Given the description of an element on the screen output the (x, y) to click on. 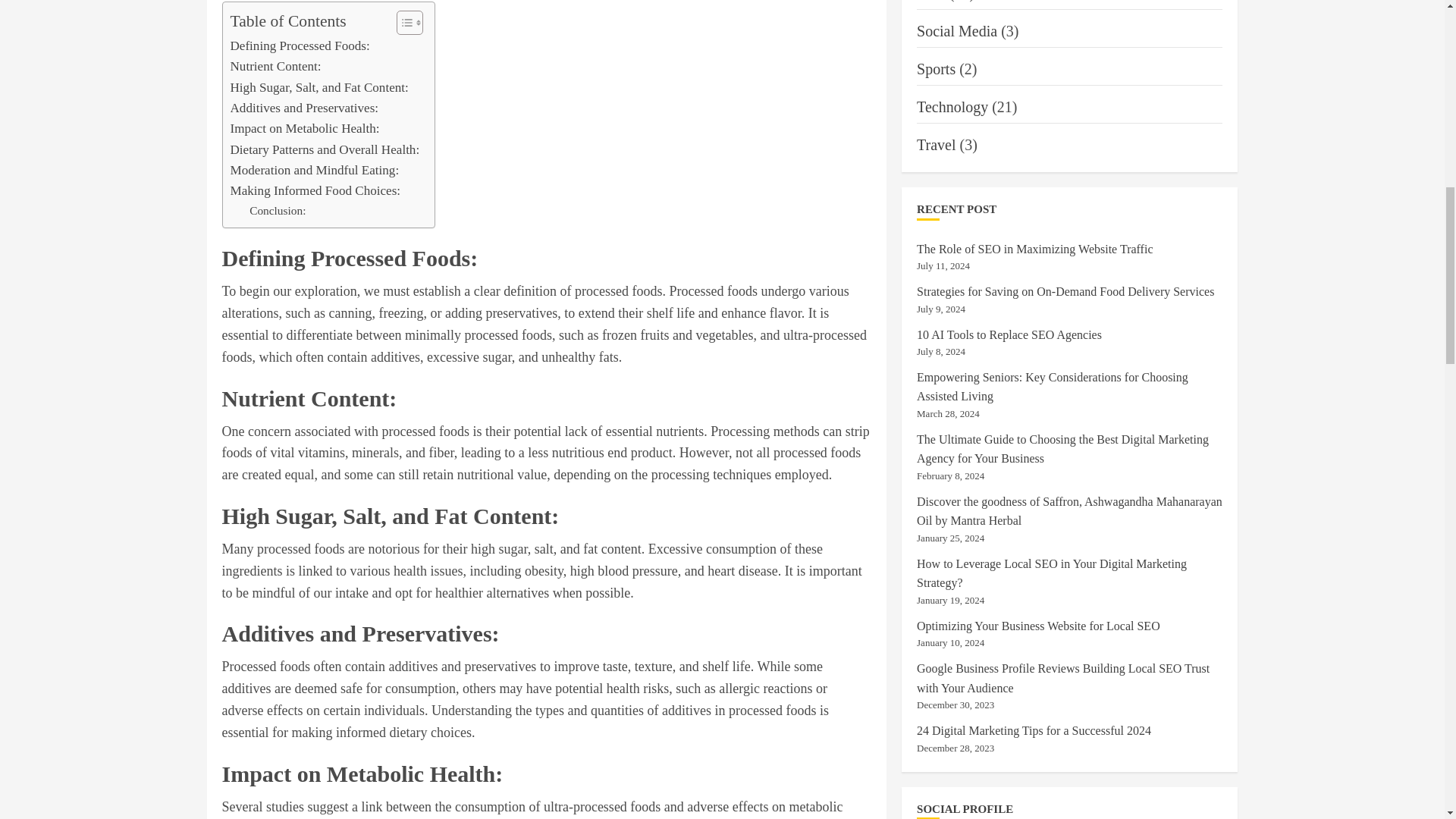
Dietary Patterns and Overall Health: (325, 149)
Conclusion: (276, 210)
Nutrient Content: (275, 66)
Defining Processed Foods: (299, 46)
Additives and Preservatives: (304, 107)
Additives and Preservatives: (304, 107)
Moderation and Mindful Eating: (314, 169)
Moderation and Mindful Eating: (314, 169)
Making Informed Food Choices: (315, 190)
Making Informed Food Choices: (315, 190)
